Given the description of an element on the screen output the (x, y) to click on. 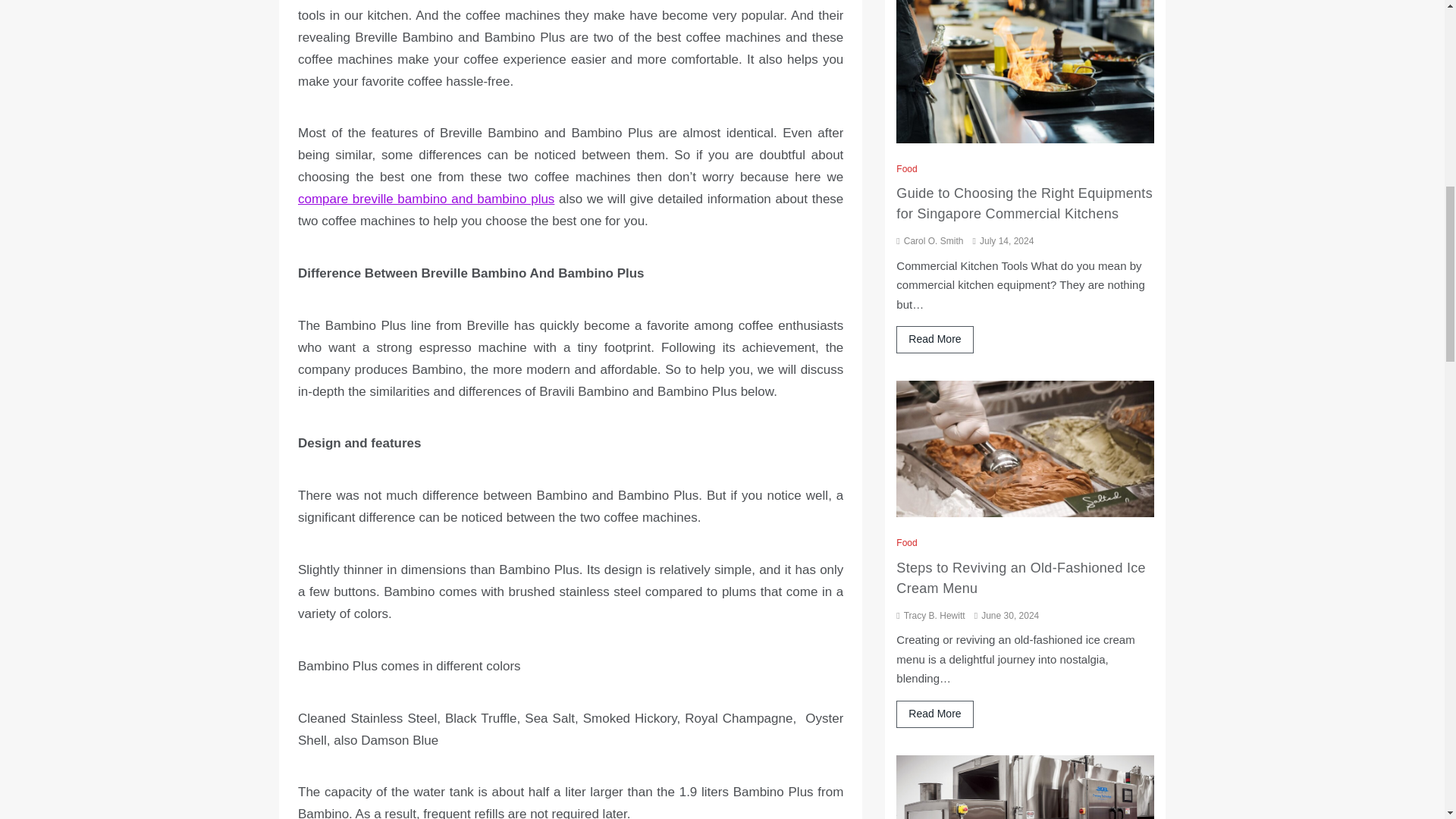
Breville (319, 0)
